Given the description of an element on the screen output the (x, y) to click on. 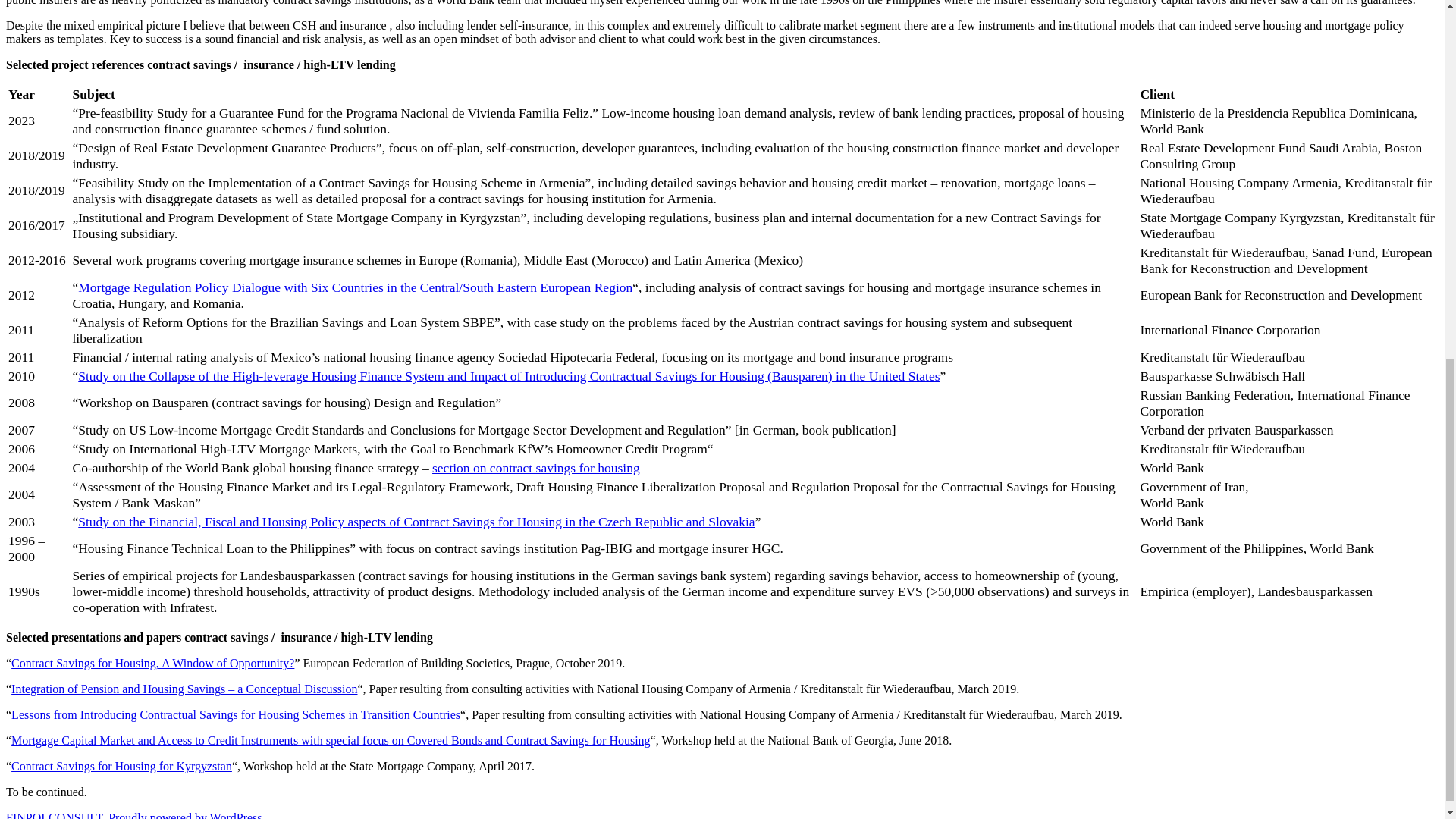
Contract Savings for Housing, A Window of Opportunity? (152, 662)
Contract Savings for Housing for Kyrgyzstan (121, 766)
section on contract savings for housing (536, 467)
